Given the description of an element on the screen output the (x, y) to click on. 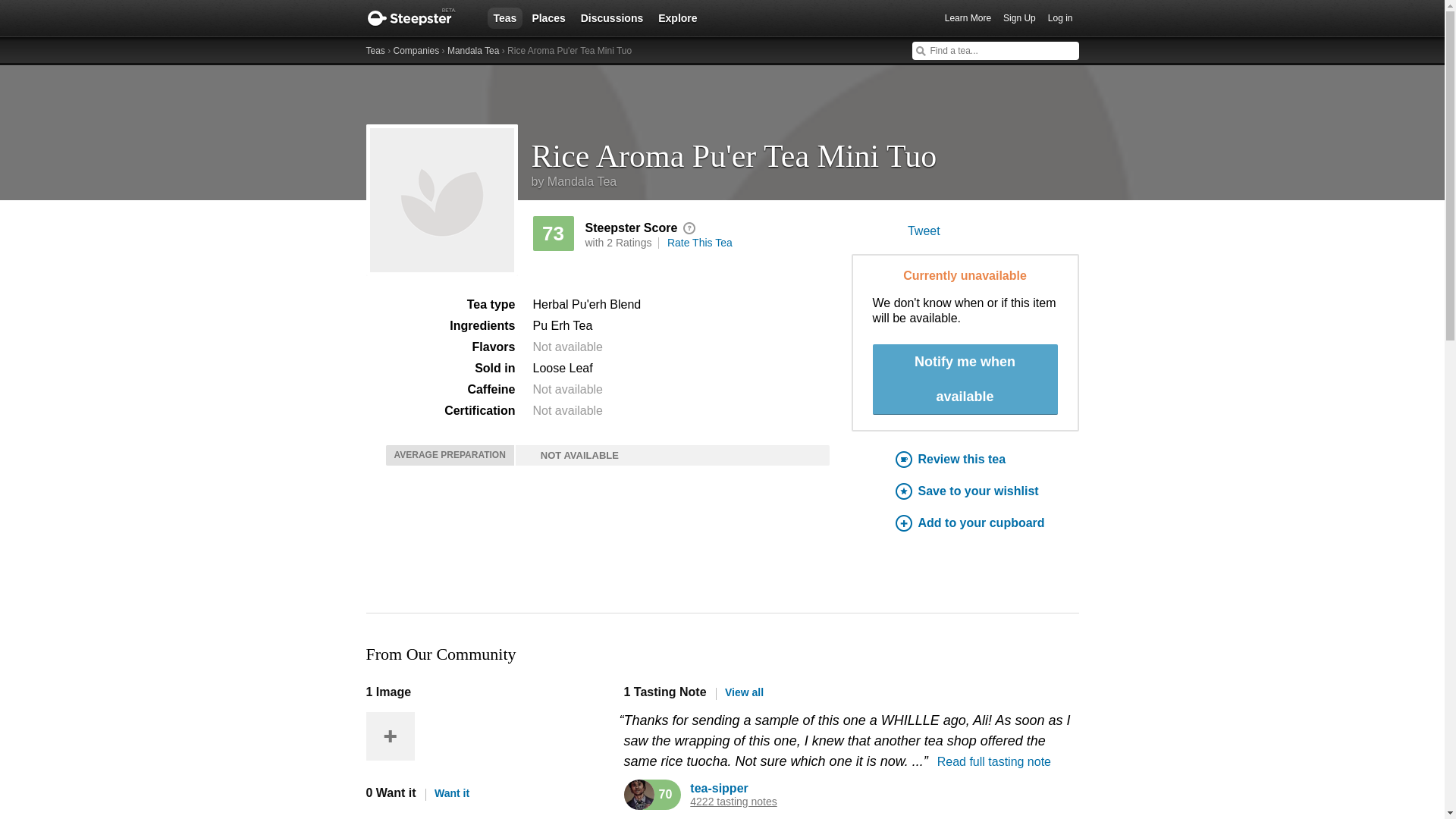
Herbal Pu'erh Blend (586, 304)
Sign Up (1019, 18)
Explore (677, 17)
Teas (374, 50)
Rate This Tea (699, 242)
Add to your cupboard (986, 522)
Steepster (418, 18)
by Mandala Tea (573, 181)
Rice Aroma Pu'er Tea Mini Tuo (804, 150)
View all (739, 692)
